Given the description of an element on the screen output the (x, y) to click on. 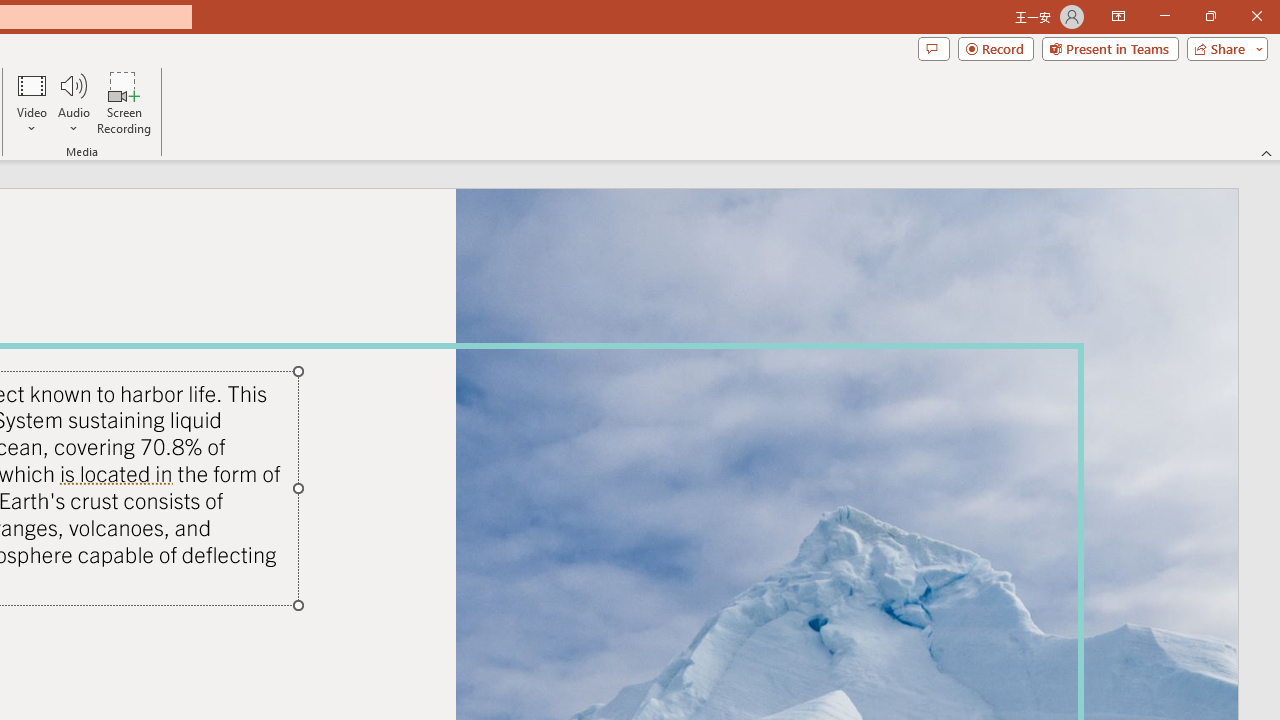
Screen Recording... (123, 102)
Video (31, 102)
